Given the description of an element on the screen output the (x, y) to click on. 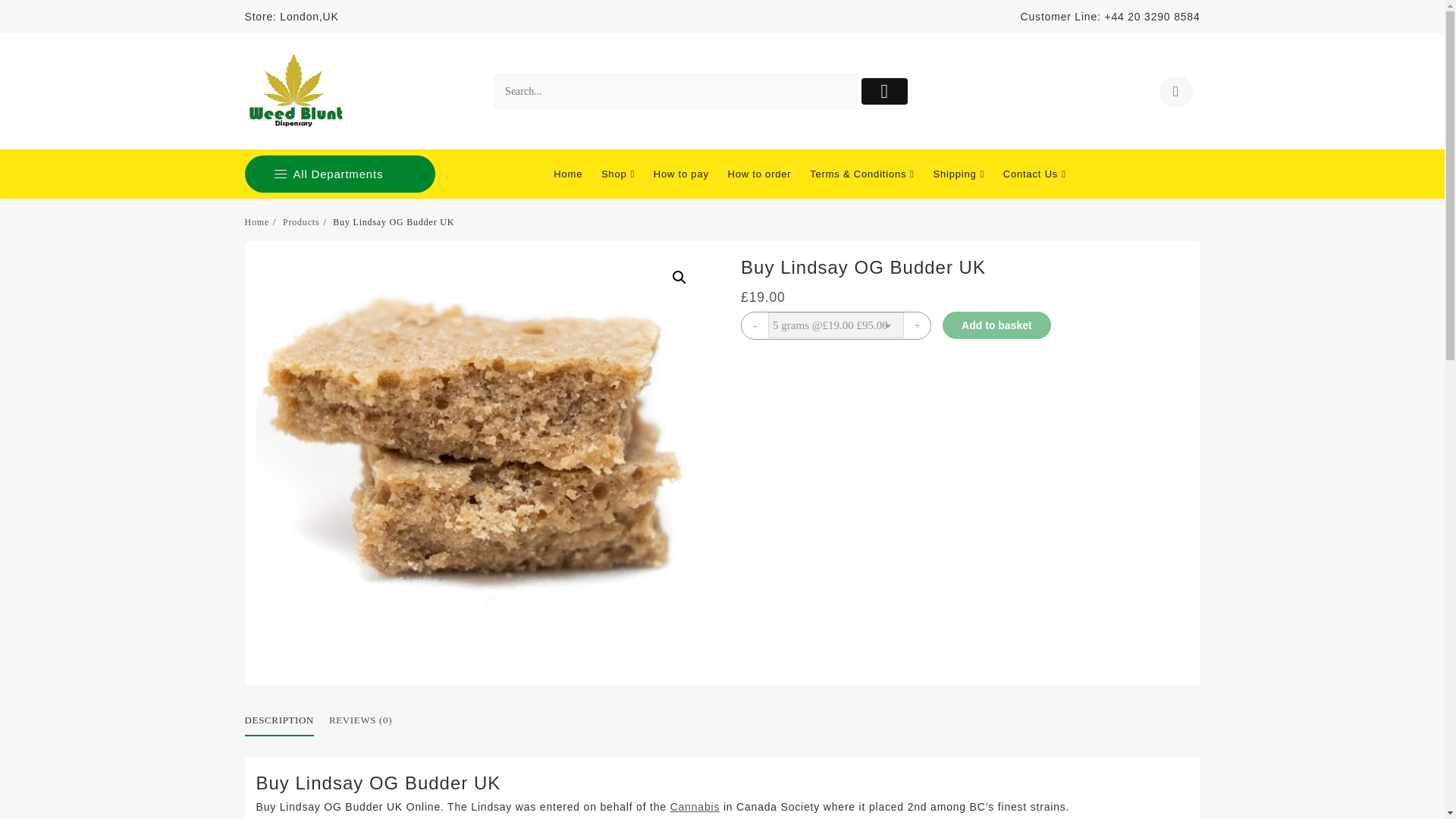
Search (676, 91)
Submit (884, 90)
Qty (836, 325)
